Given the description of an element on the screen output the (x, y) to click on. 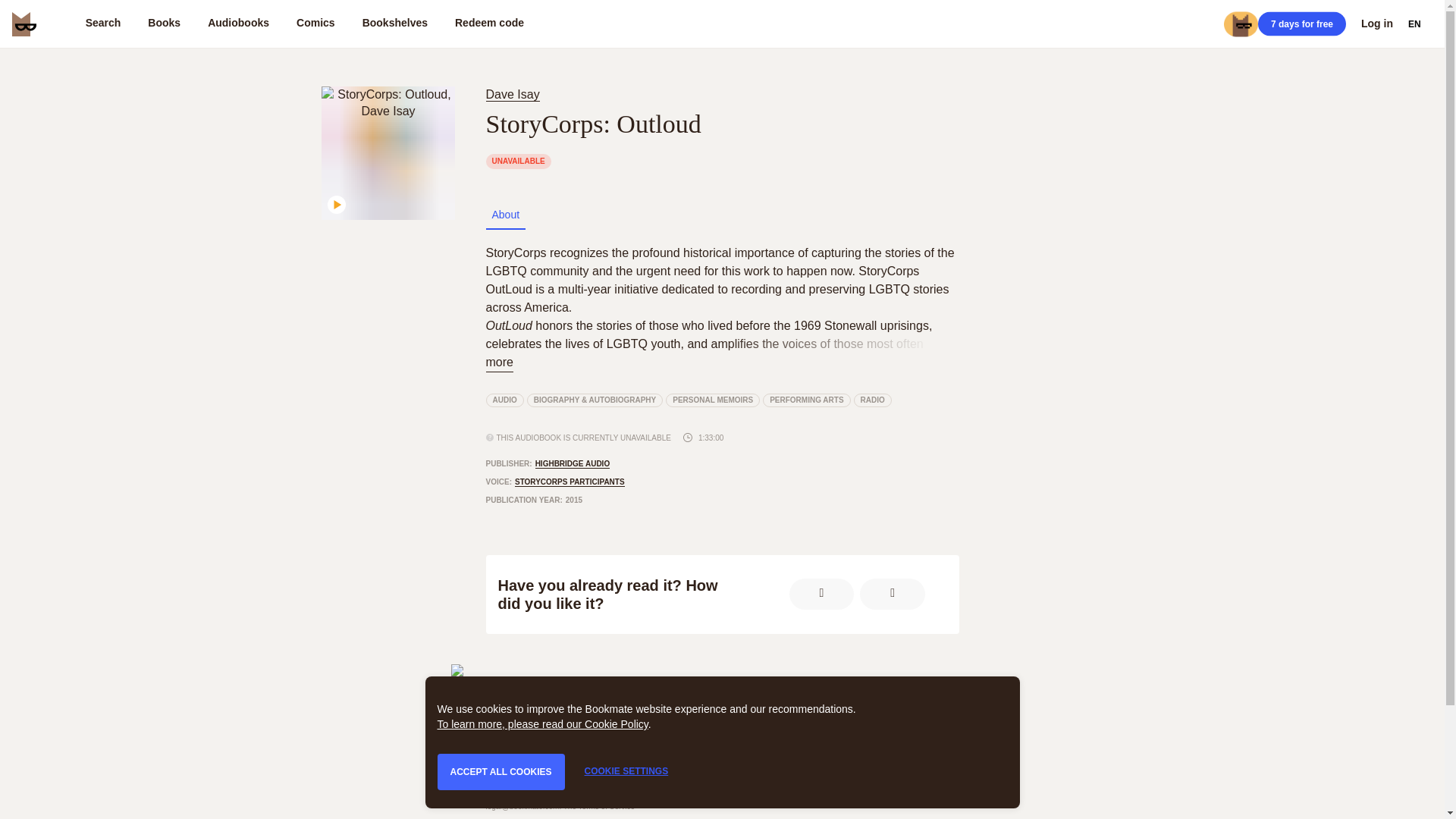
Bookshelves (522, 713)
Sitemap (394, 24)
The Terms of Service (837, 681)
PERFORMING ARTS (598, 806)
Dave Isay (806, 400)
RADIO (511, 94)
Redeem code (872, 400)
AUDIO (488, 24)
Jobs (503, 400)
